Given the description of an element on the screen output the (x, y) to click on. 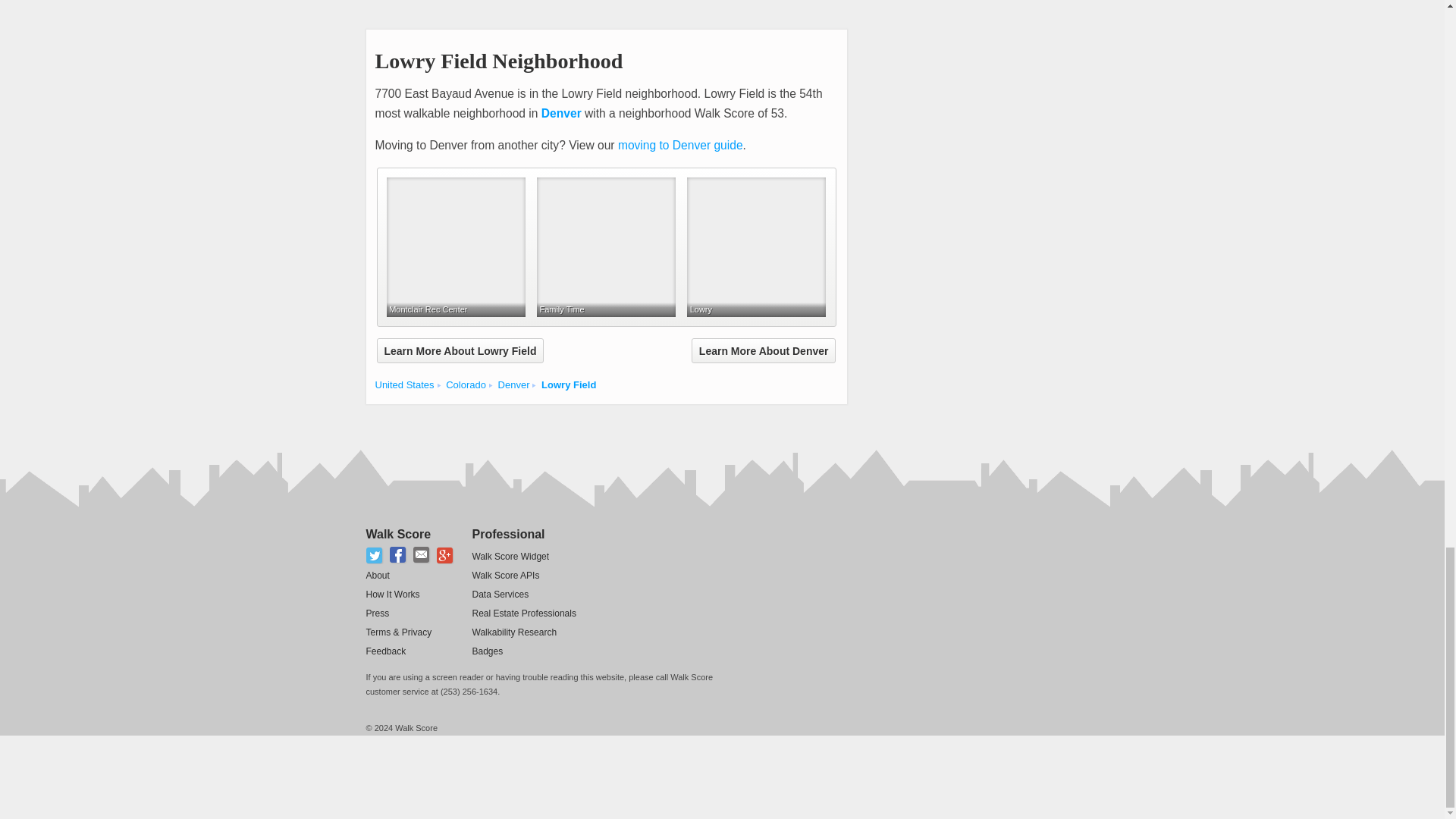
United States Walkability Rankings (403, 384)
Denver (560, 113)
Cities in Colorado state (465, 384)
moving to Denver guide (679, 144)
